Given the description of an element on the screen output the (x, y) to click on. 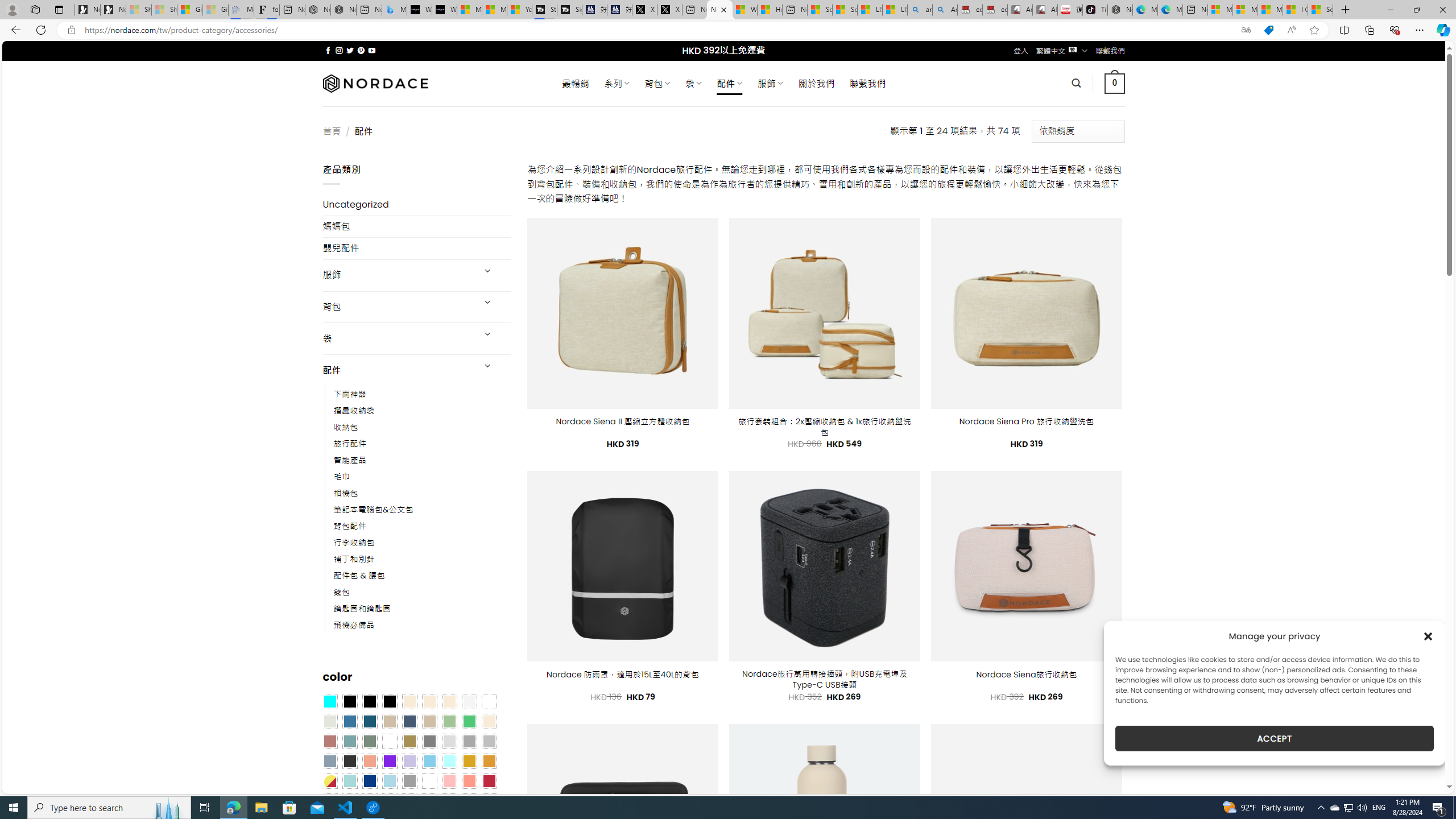
ACCEPT (1274, 738)
